Given the description of an element on the screen output the (x, y) to click on. 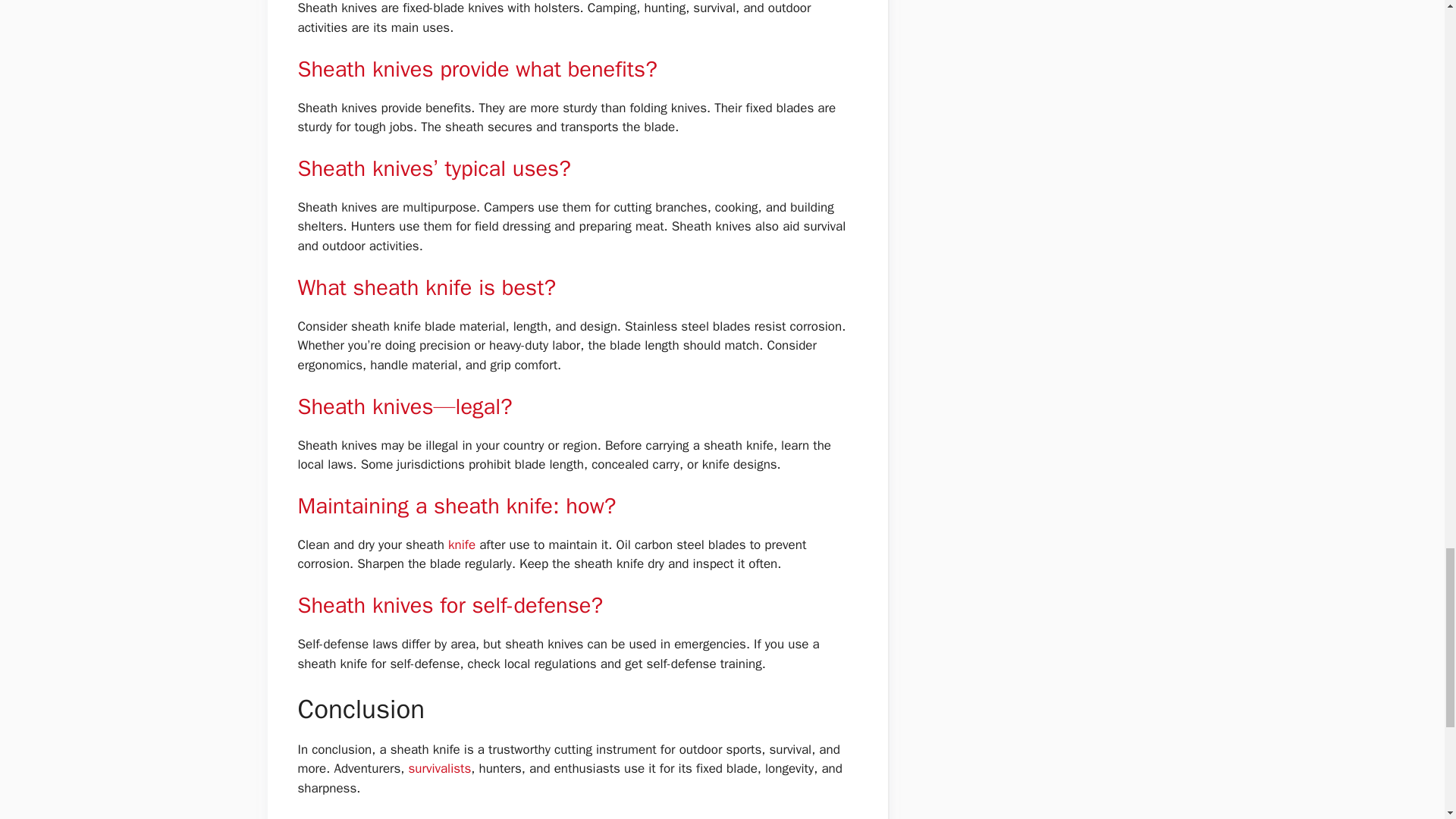
survivalists (438, 768)
knife (463, 544)
